Given the description of an element on the screen output the (x, y) to click on. 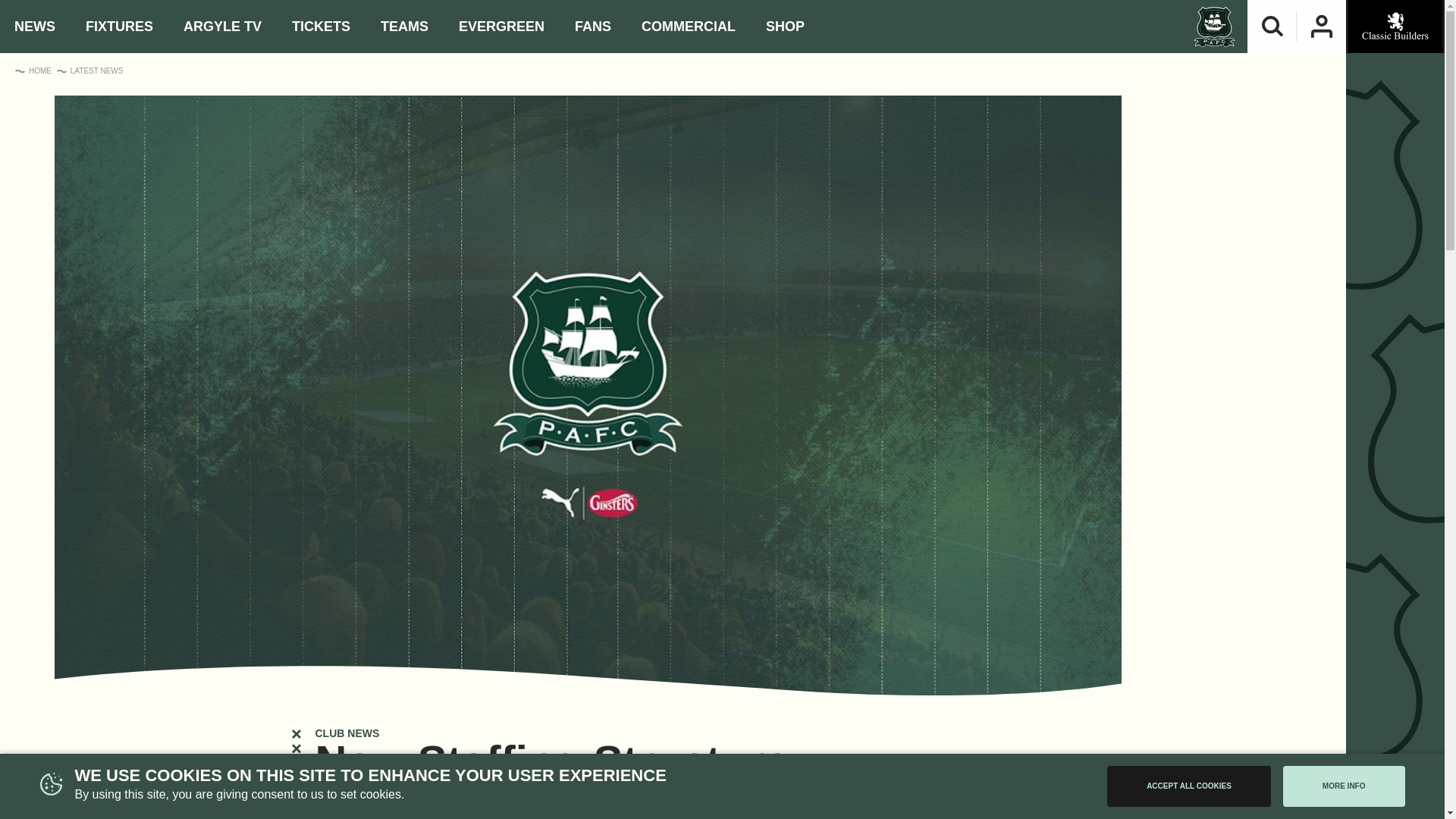
FIXTURES (118, 26)
News (34, 26)
ARGYLE TV (222, 26)
Plymouth Argyle Football Club (1213, 26)
NEWS (34, 26)
